Given the description of an element on the screen output the (x, y) to click on. 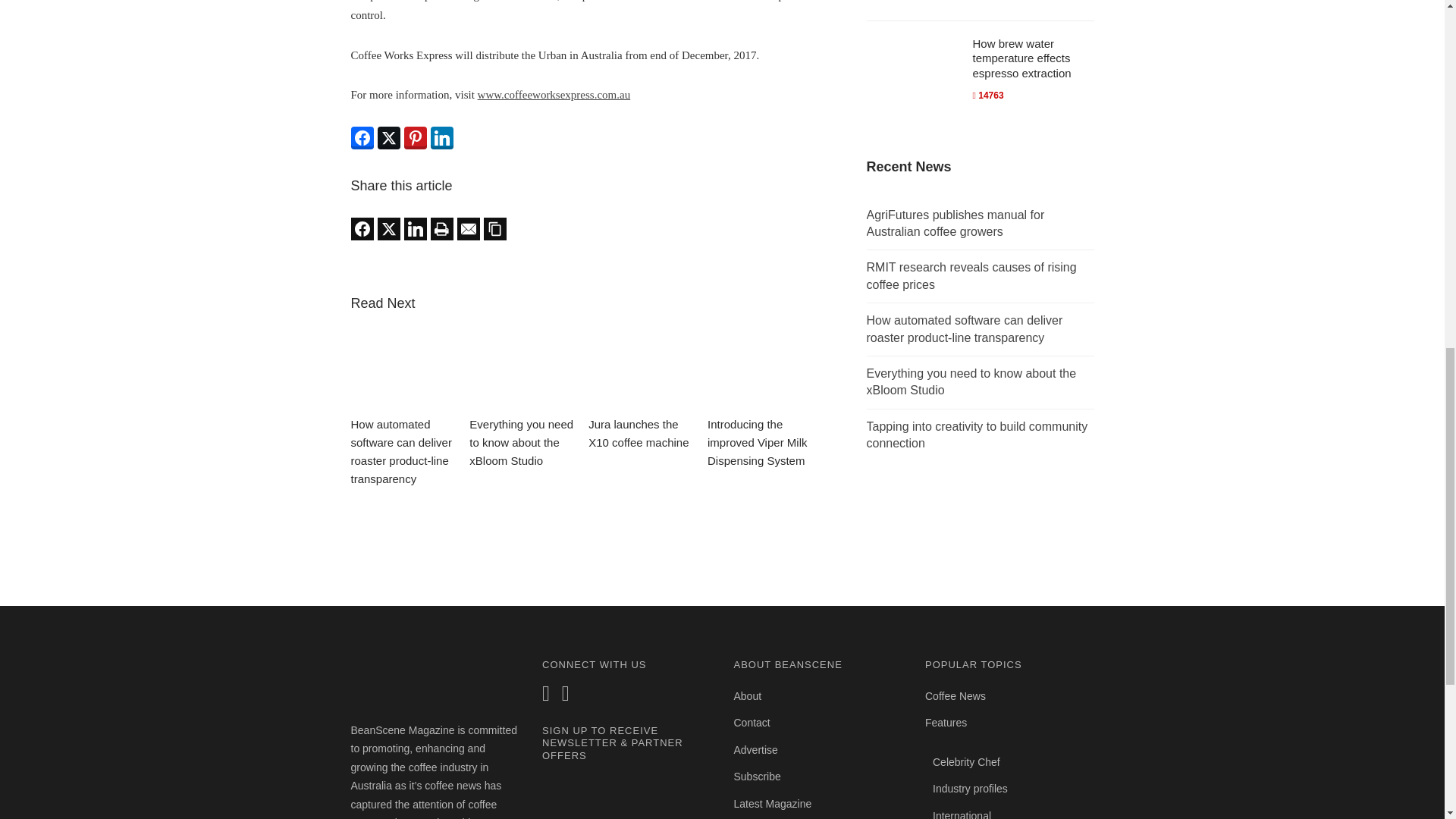
Share on Twitter (388, 228)
Share on Twitter (388, 137)
Share on Facebook (361, 228)
Share on LinkedIn (414, 228)
Share on Print (441, 228)
Share on Pinterest (414, 137)
Share on LinkedIn (441, 137)
Share on Facebook (361, 137)
www.coffeeworksexpress.com.au (553, 94)
